Given the description of an element on the screen output the (x, y) to click on. 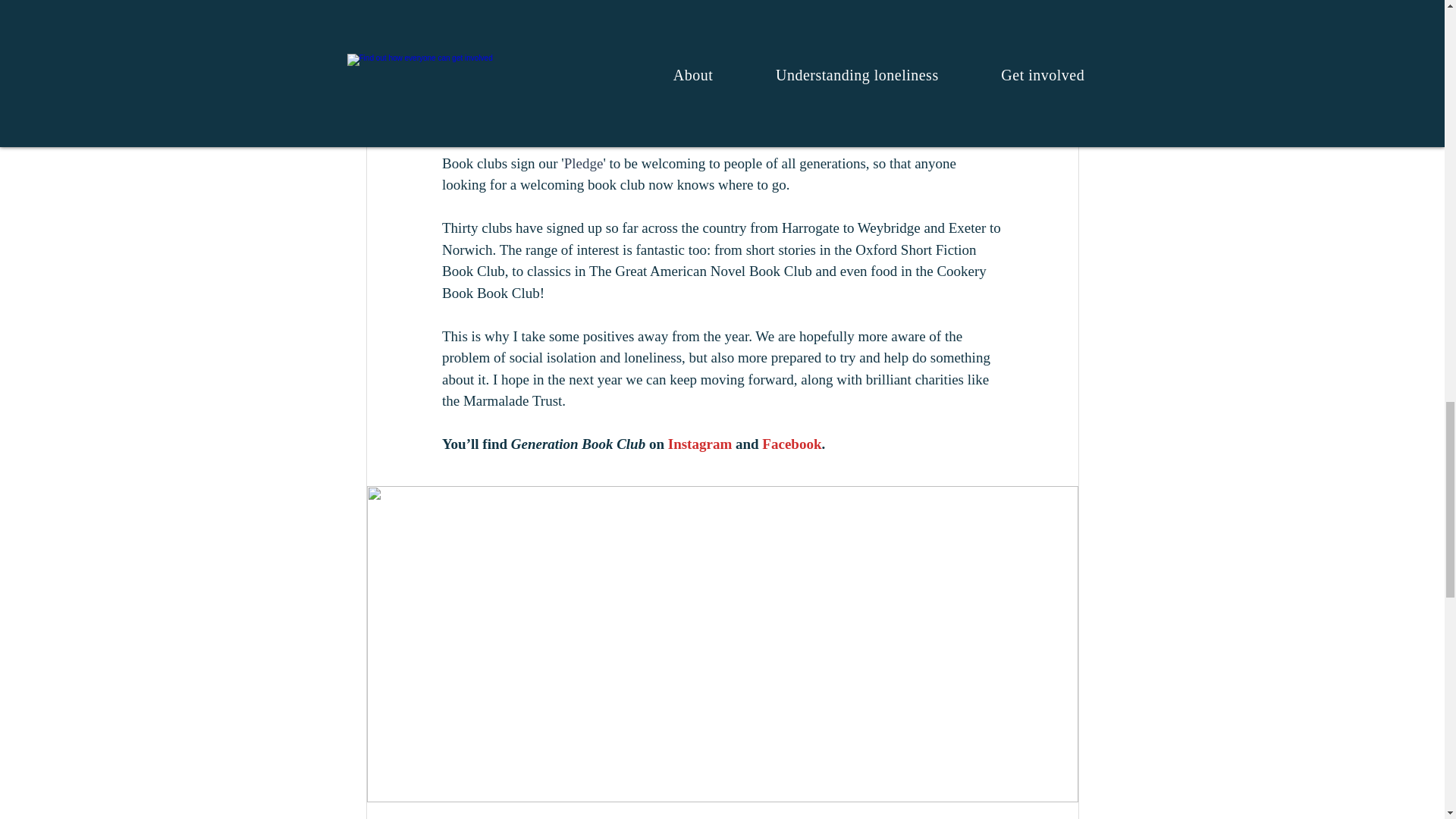
Facebook (791, 443)
Instagram (698, 443)
Pledge (582, 163)
